Given the description of an element on the screen output the (x, y) to click on. 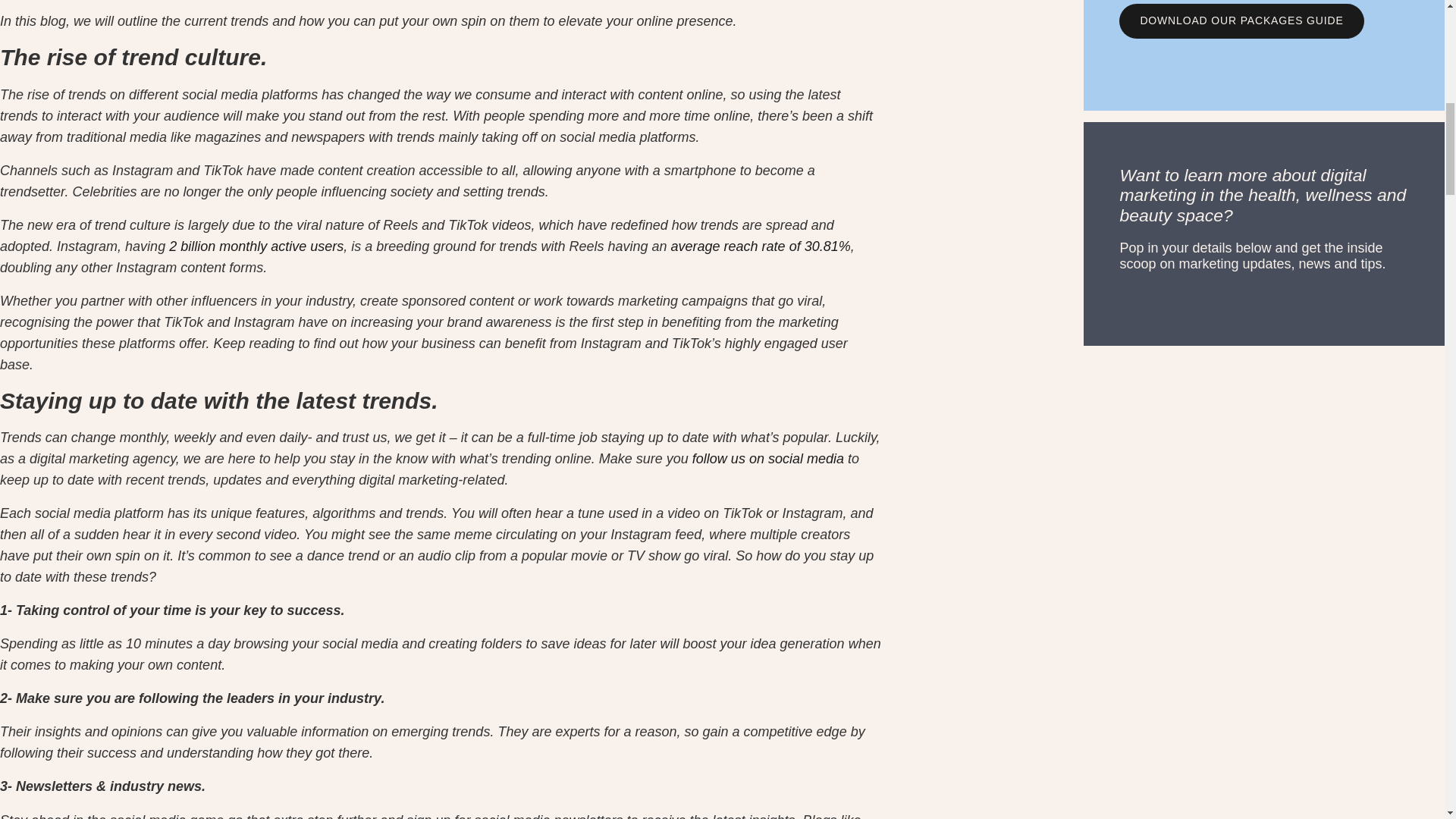
DOWNLOAD OUR PACKAGES GUIDE (1240, 21)
2 billion monthly active users (255, 246)
 follow us on social media (766, 458)
